Given the description of an element on the screen output the (x, y) to click on. 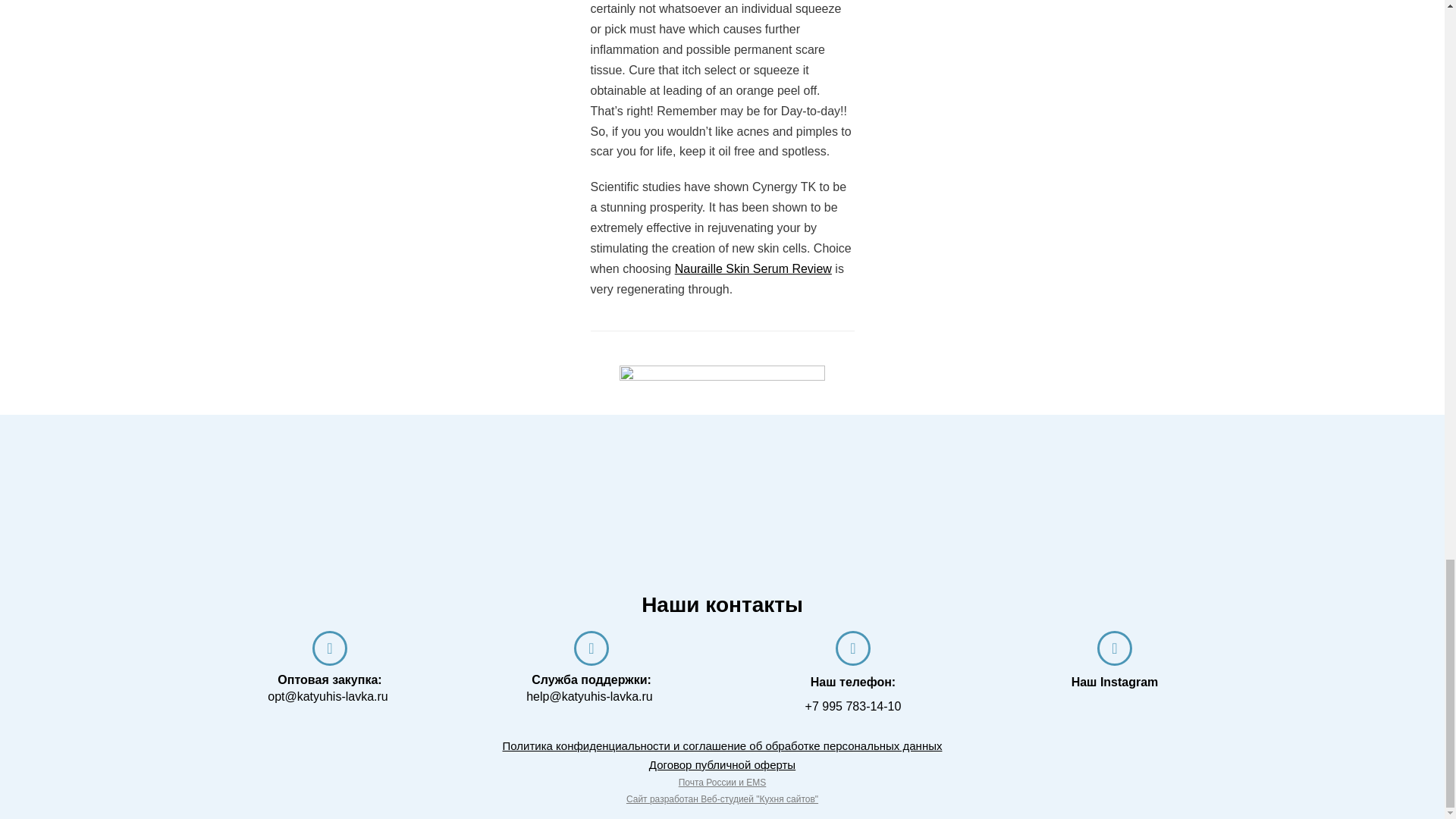
Nauraille Skin Serum Review (753, 268)
